Given the description of an element on the screen output the (x, y) to click on. 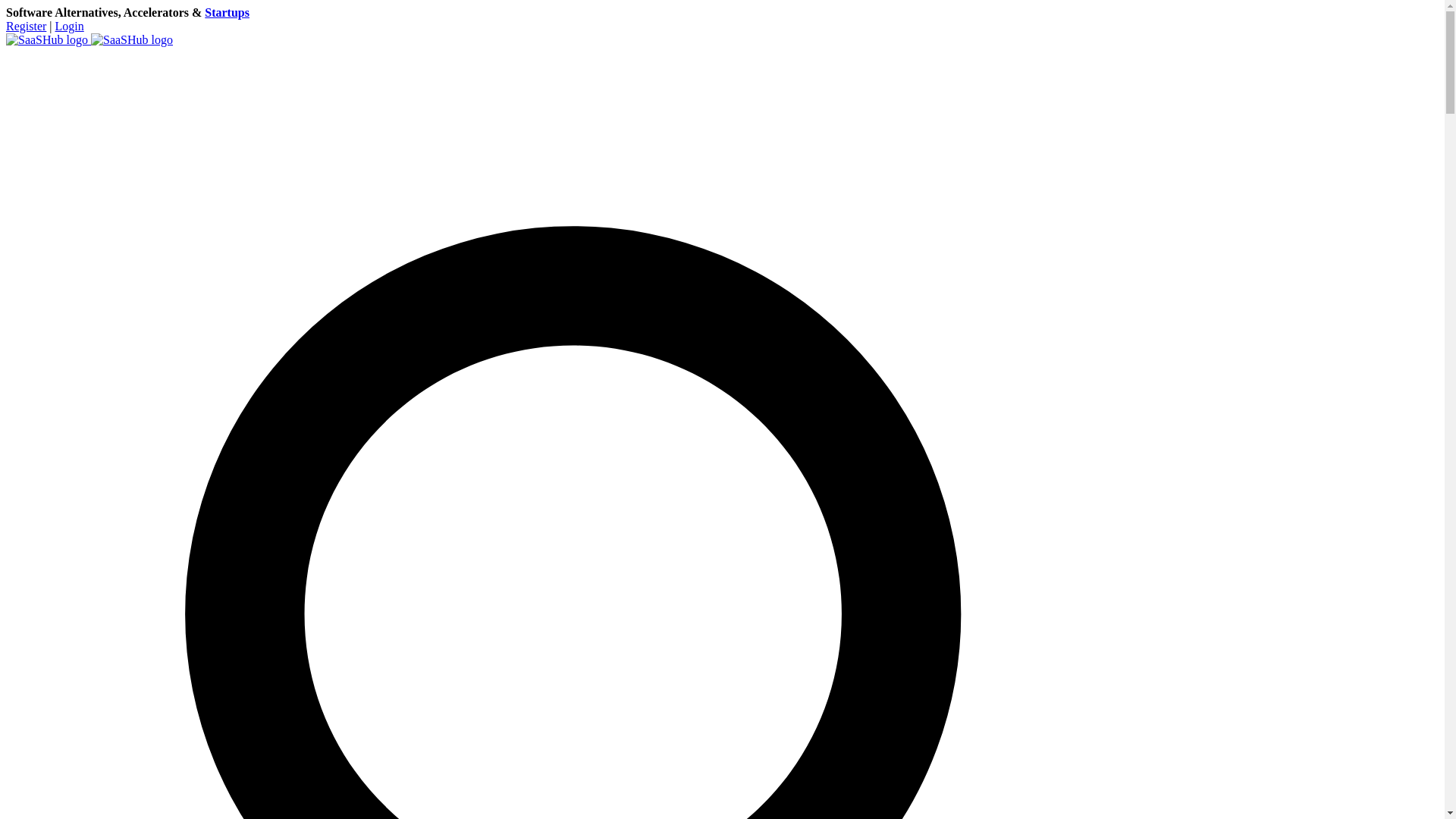
Startups (226, 11)
Register (25, 25)
Login (69, 25)
